Given the description of an element on the screen output the (x, y) to click on. 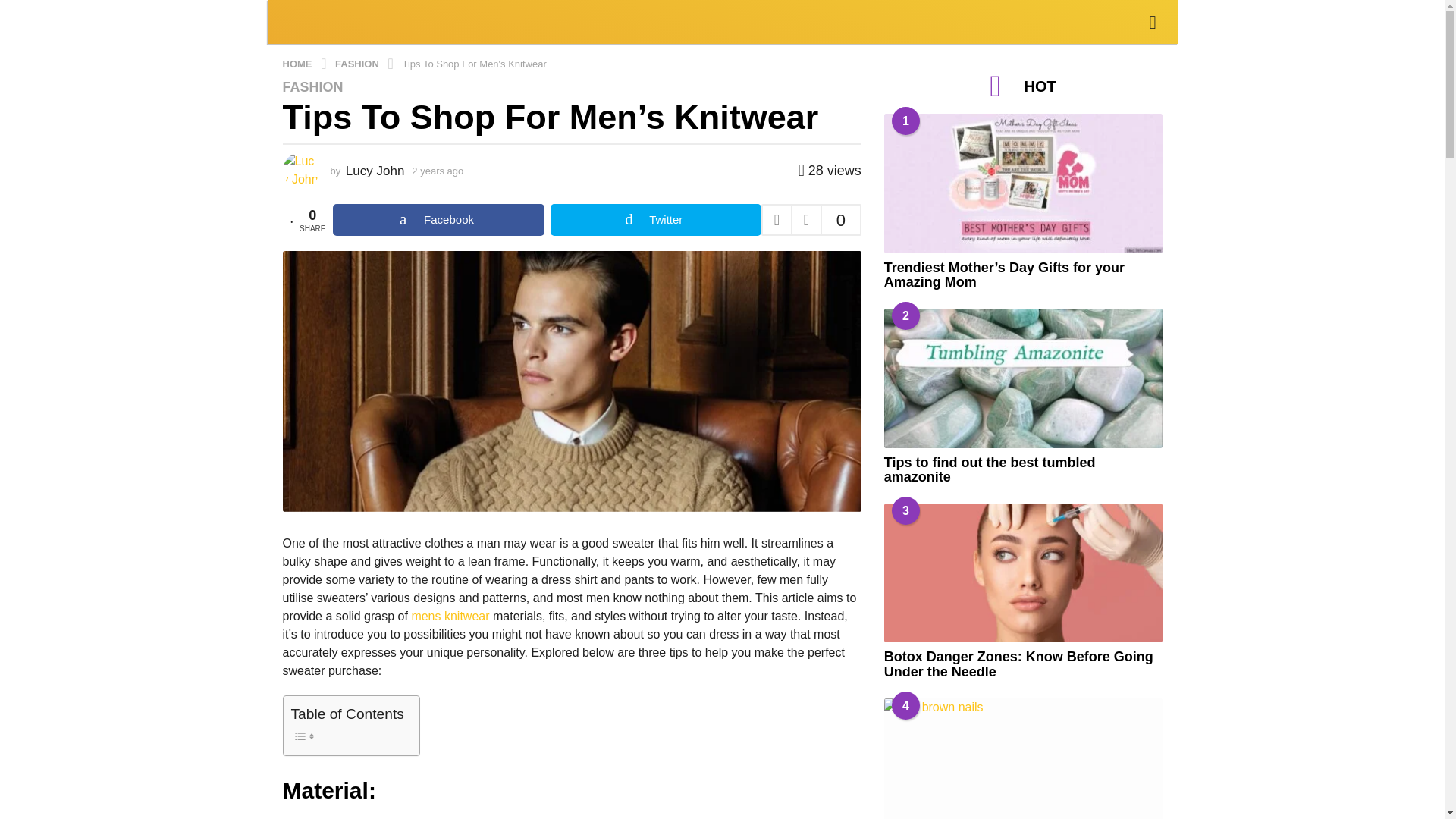
mens knitwear (449, 615)
FASHION (312, 87)
Lucy John (375, 170)
Twitter (655, 219)
Facebook (438, 219)
Share on Facebook (438, 219)
HOME (298, 62)
FASHION (357, 62)
Share on Twitter (655, 219)
Tips To Shop For Men's Knitwear (473, 62)
